Given the description of an element on the screen output the (x, y) to click on. 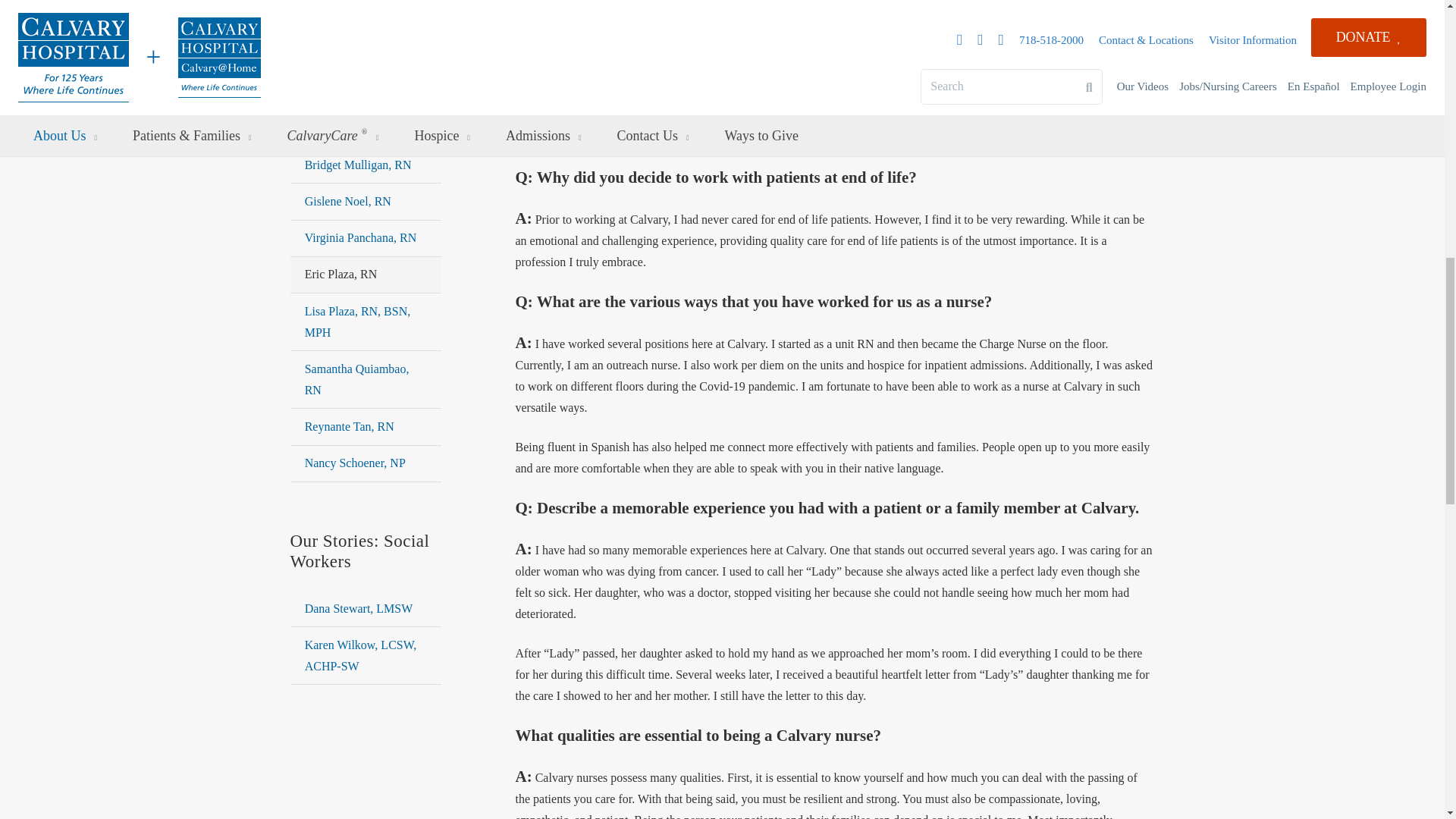
Back to top (1413, 26)
